Given the description of an element on the screen output the (x, y) to click on. 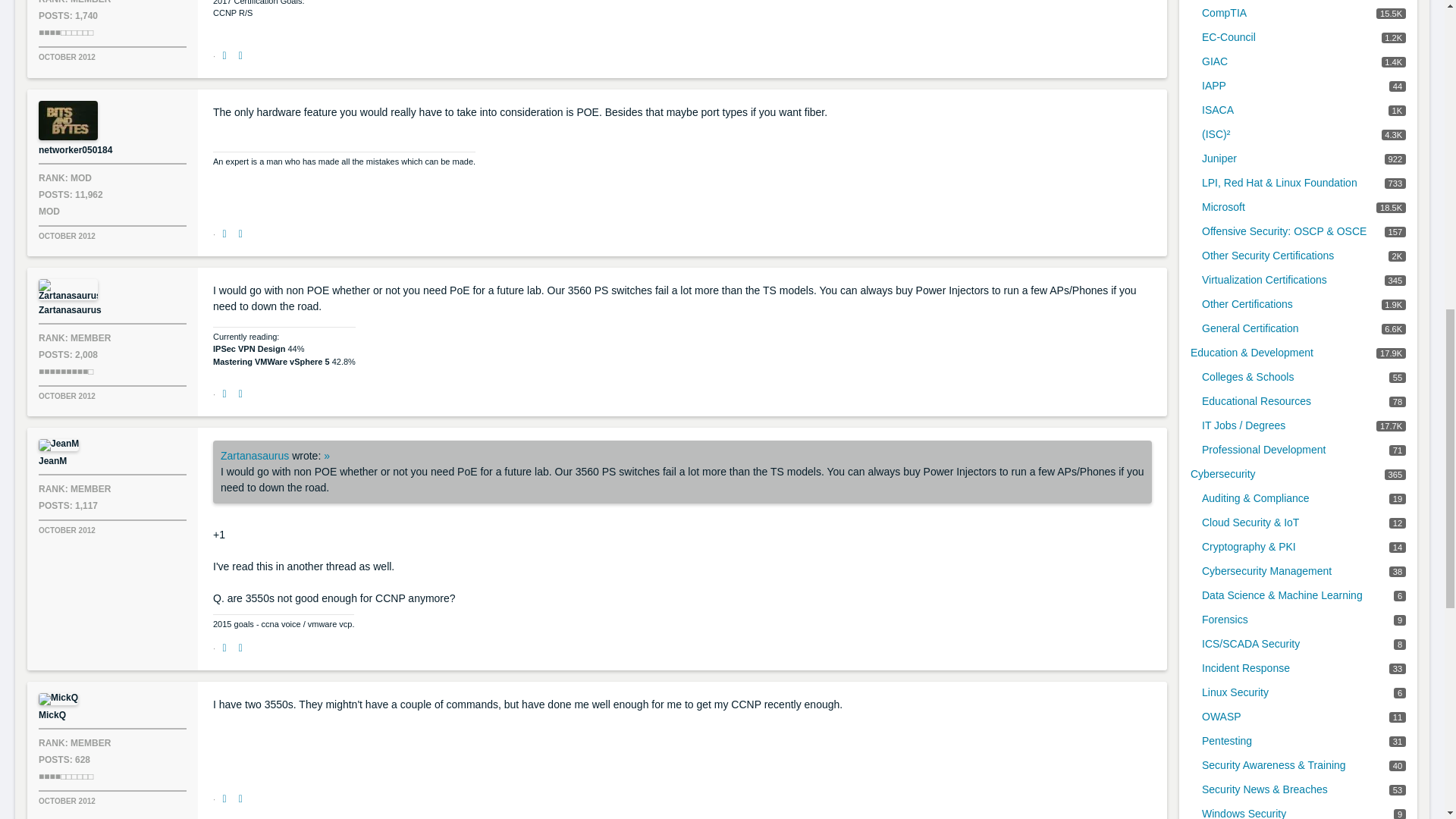
October 29, 2012 2:09PM (67, 530)
Apprentice (66, 776)
October 29, 2012 1:33PM (67, 396)
networker050184 (68, 120)
JeanM (68, 444)
October 29, 2012 12:53PM (67, 57)
October 29, 2012 1:07PM (67, 235)
Zartanasaurus (68, 289)
Apprentice (66, 32)
MickQ (68, 698)
